Given the description of an element on the screen output the (x, y) to click on. 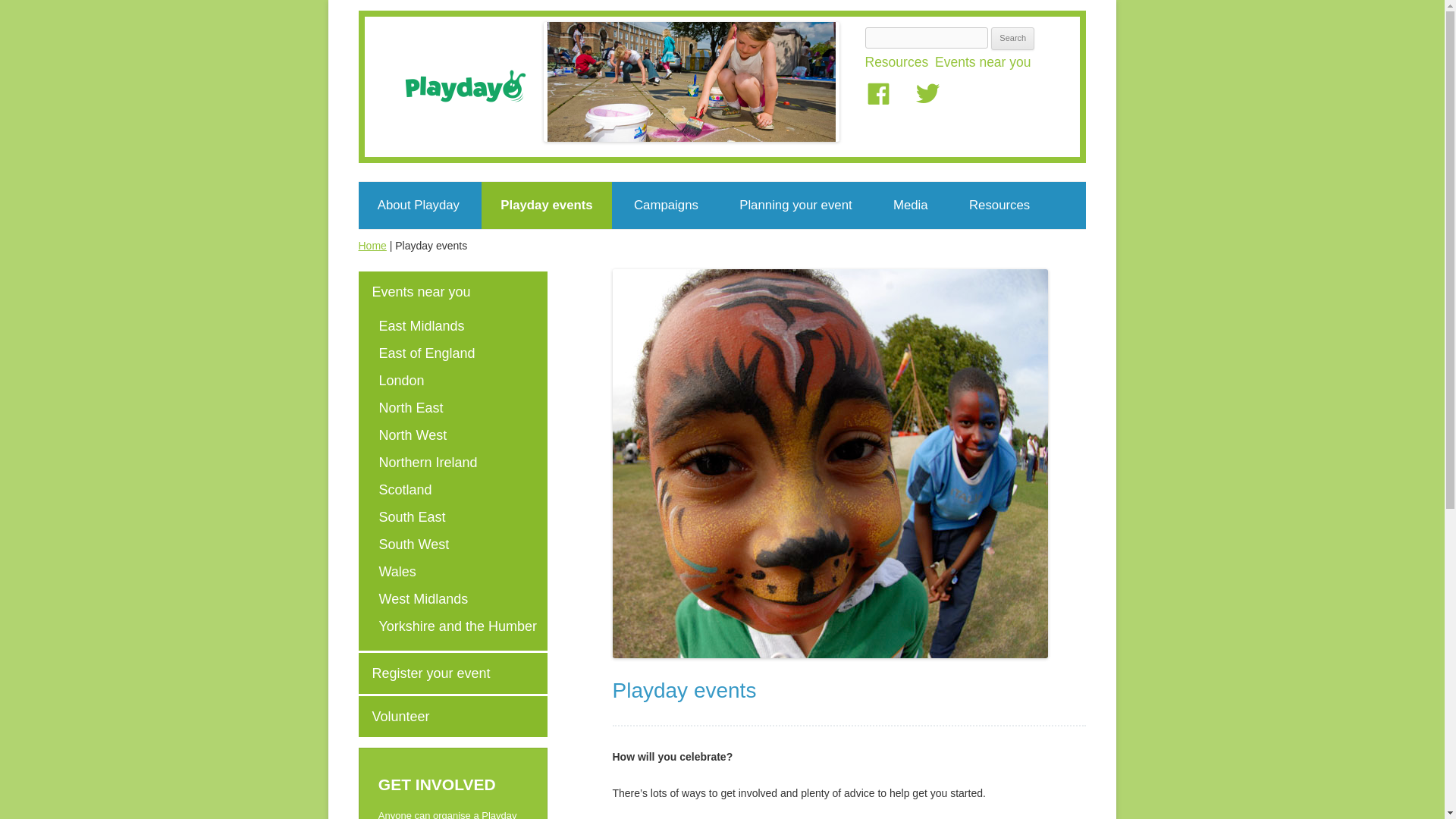
Playday events (546, 205)
Events near you (983, 61)
Resources (897, 61)
About Playday (418, 205)
Playday (464, 85)
Developing a campaign (701, 249)
Search (1012, 38)
Go to Playday. (371, 245)
